Given the description of an element on the screen output the (x, y) to click on. 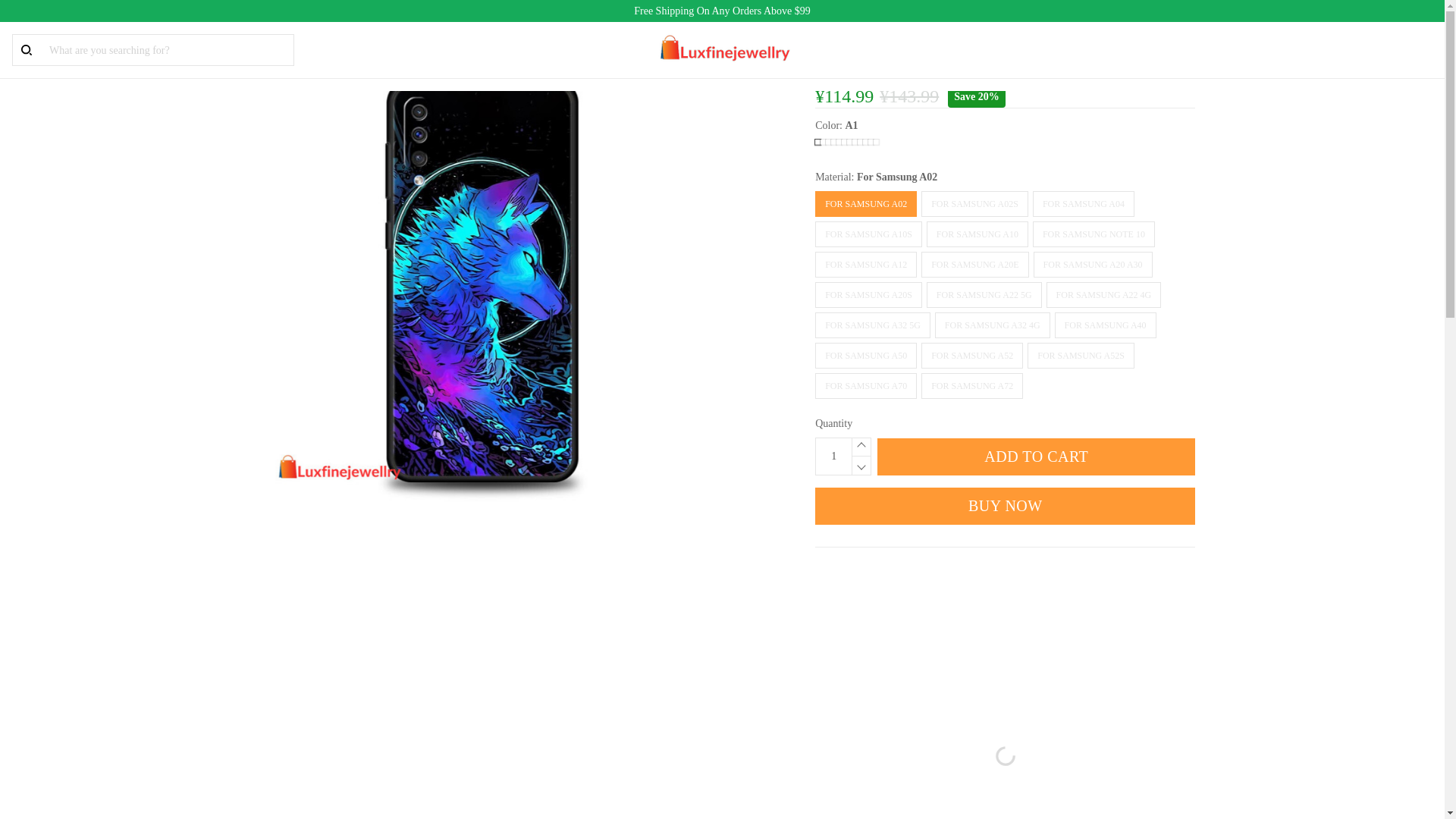
FOR SAMSUNG NOTE 10 (1093, 234)
FOR SAMSUNG A22 4G (1103, 294)
FOR SAMSUNG A04 (1083, 203)
FOR SAMSUNG A22 5G (984, 294)
FOR SAMSUNG A20E (974, 264)
FOR SAMSUNG A70 (866, 385)
FOR SAMSUNG A52 (972, 355)
FOR SAMSUNG A50 (866, 355)
1 (833, 456)
FOR SAMSUNG A20 A30 (1093, 264)
